Given the description of an element on the screen output the (x, y) to click on. 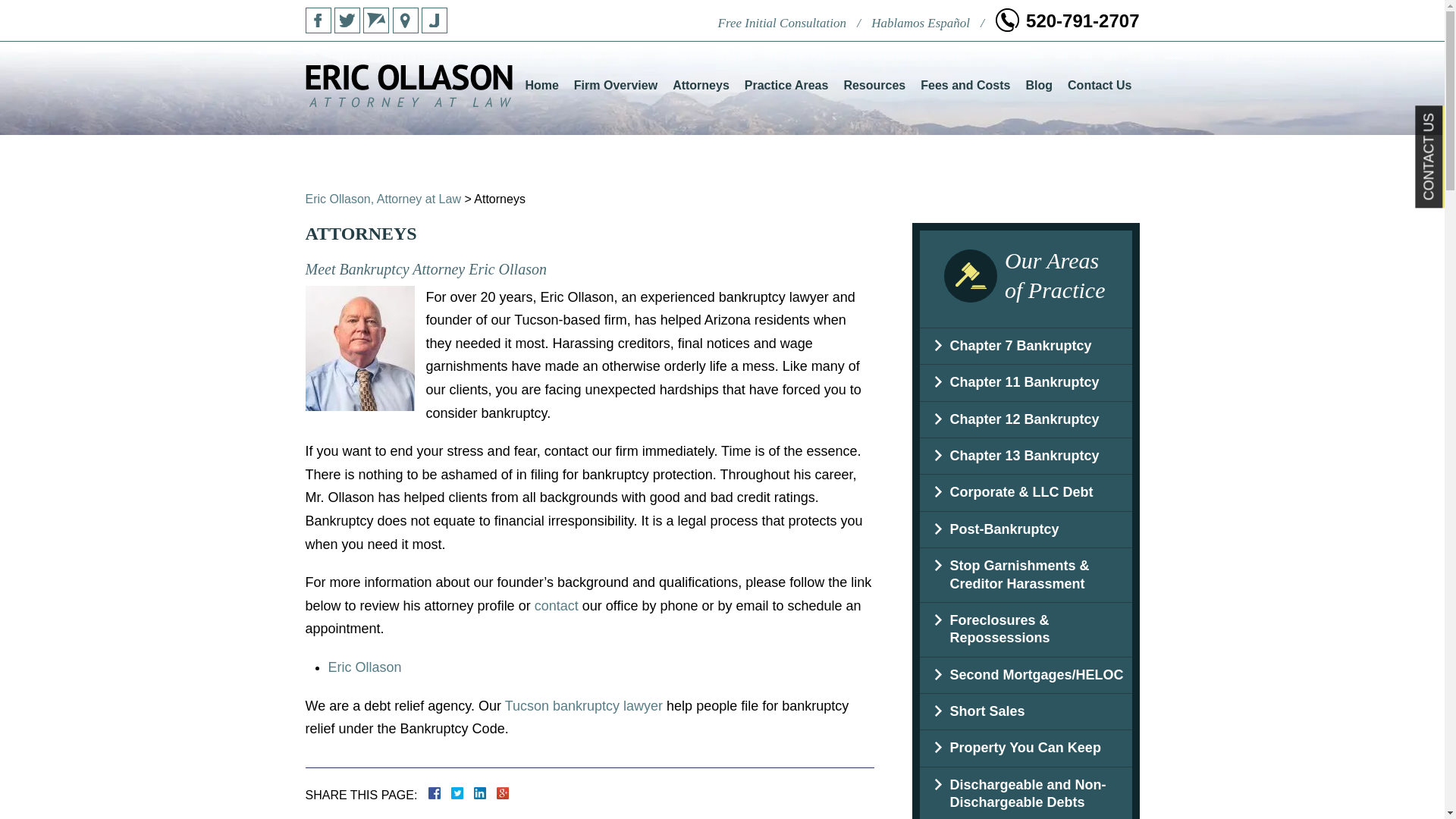
Short Sales Element type: text (1025, 711)
Second Mortgages/HELOC Element type: text (1025, 675)
Chapter 11 Bankruptcy Element type: text (1025, 382)
Resources Element type: text (874, 85)
Tucson bankruptcy lawyer Element type: text (583, 704)
Blog Element type: text (1038, 85)
Eric Ollason Element type: text (364, 666)
Stop Garnishments & Creditor Harassment Element type: text (1025, 575)
Fees and Costs Element type: text (965, 85)
Home Element type: text (541, 85)
Chapter 7 Bankruptcy Element type: text (1025, 346)
Practice Areas Element type: text (786, 85)
Foreclosures & Repossessions Element type: text (1025, 629)
contact Element type: text (556, 605)
Chapter 13 Bankruptcy Element type: text (1025, 455)
Attorneys Element type: text (701, 85)
520-791-2707 Element type: text (1066, 20)
Firm Overview Element type: text (615, 85)
Post-Bankruptcy Element type: text (1025, 529)
Contact Us Element type: text (1099, 85)
Chapter 12 Bankruptcy Element type: text (1025, 419)
Eric Ollason, Attorney at Law Element type: text (382, 198)
Corporate & LLC Debt Element type: text (1025, 492)
Property You Can Keep Element type: text (1025, 747)
